Given the description of an element on the screen output the (x, y) to click on. 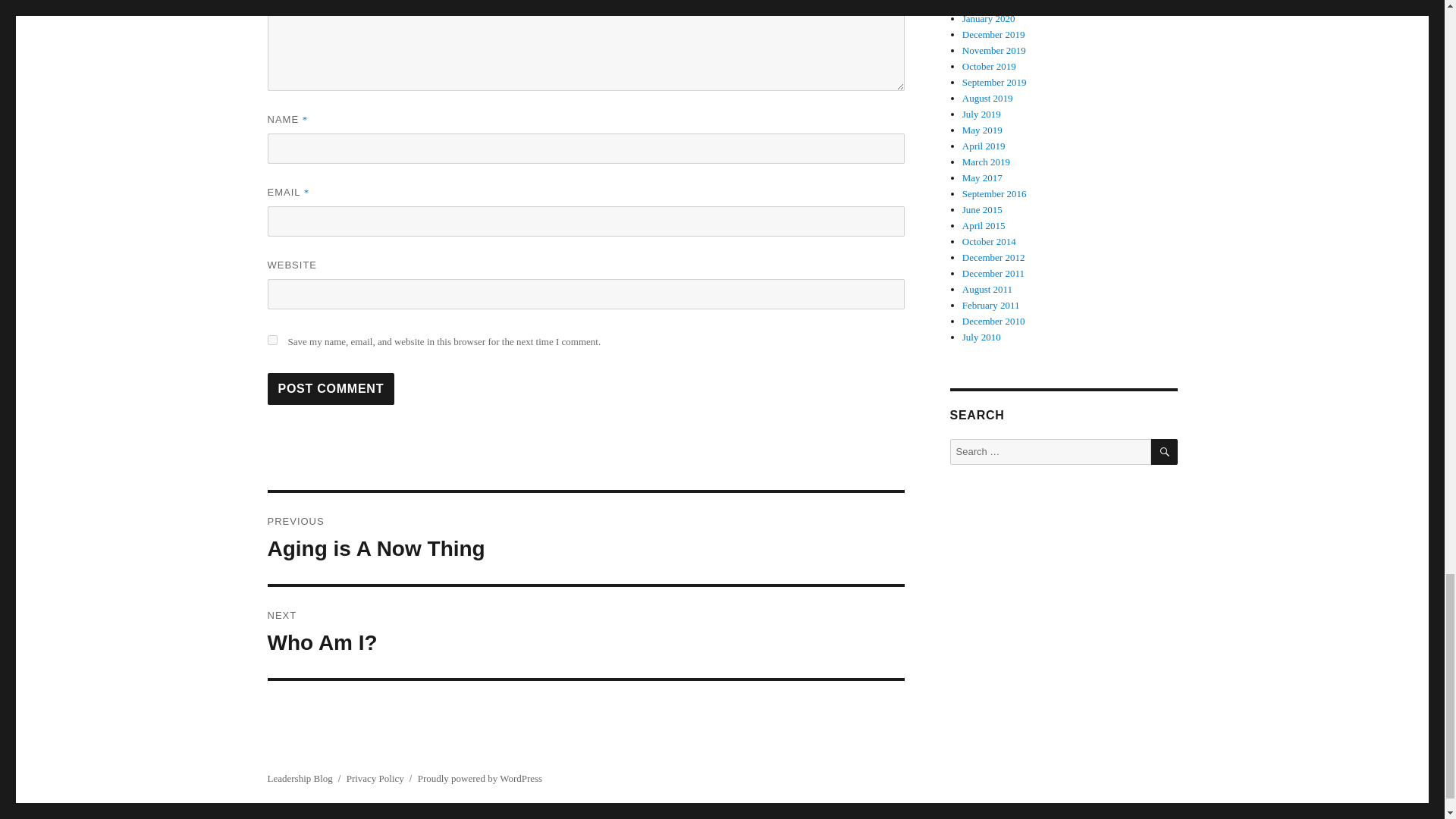
Post Comment (330, 388)
Post Comment (585, 632)
yes (585, 538)
